Given the description of an element on the screen output the (x, y) to click on. 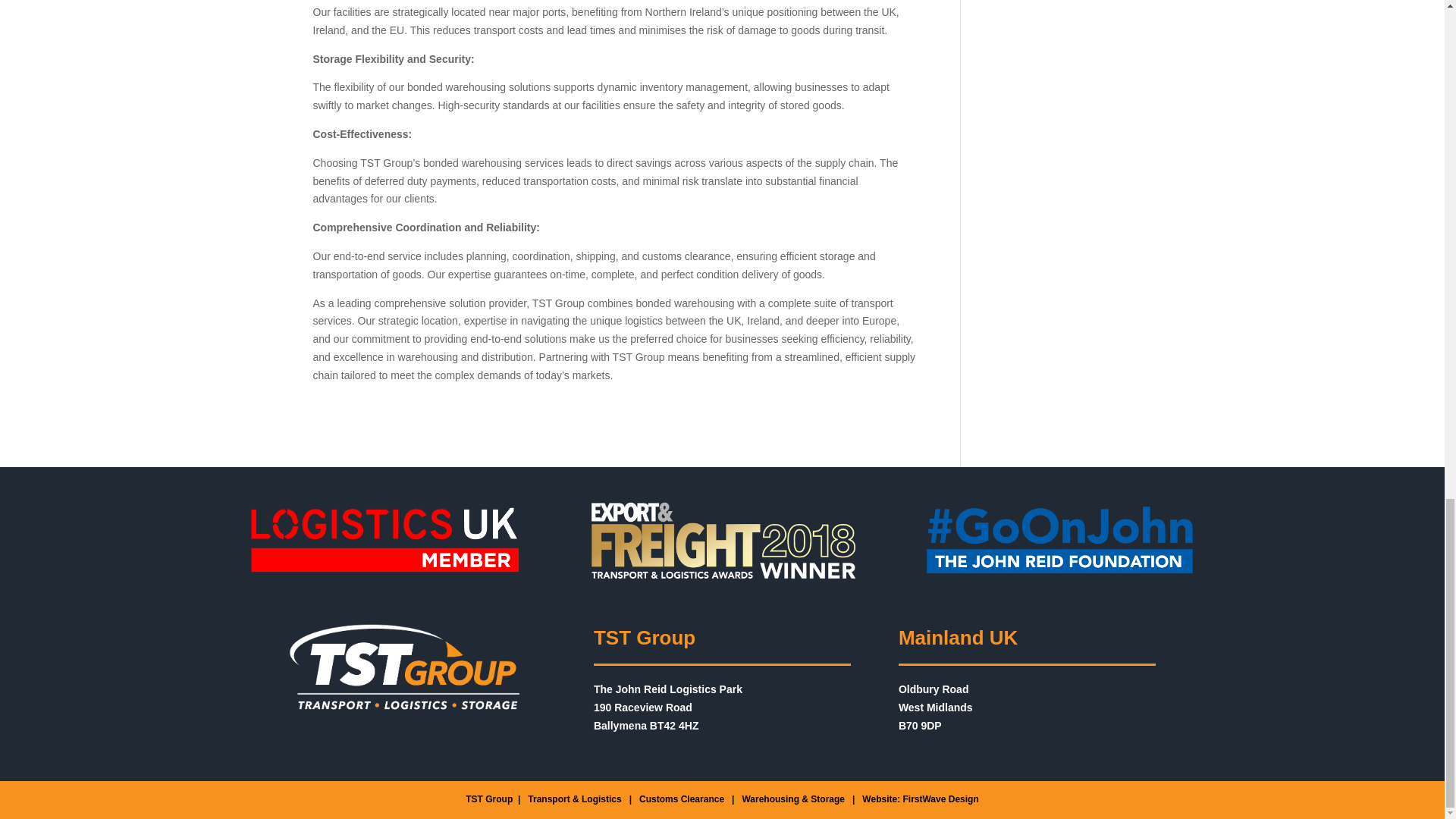
go-on-john (1058, 540)
TST-Group-Logo-reversed (403, 665)
